Given the description of an element on the screen output the (x, y) to click on. 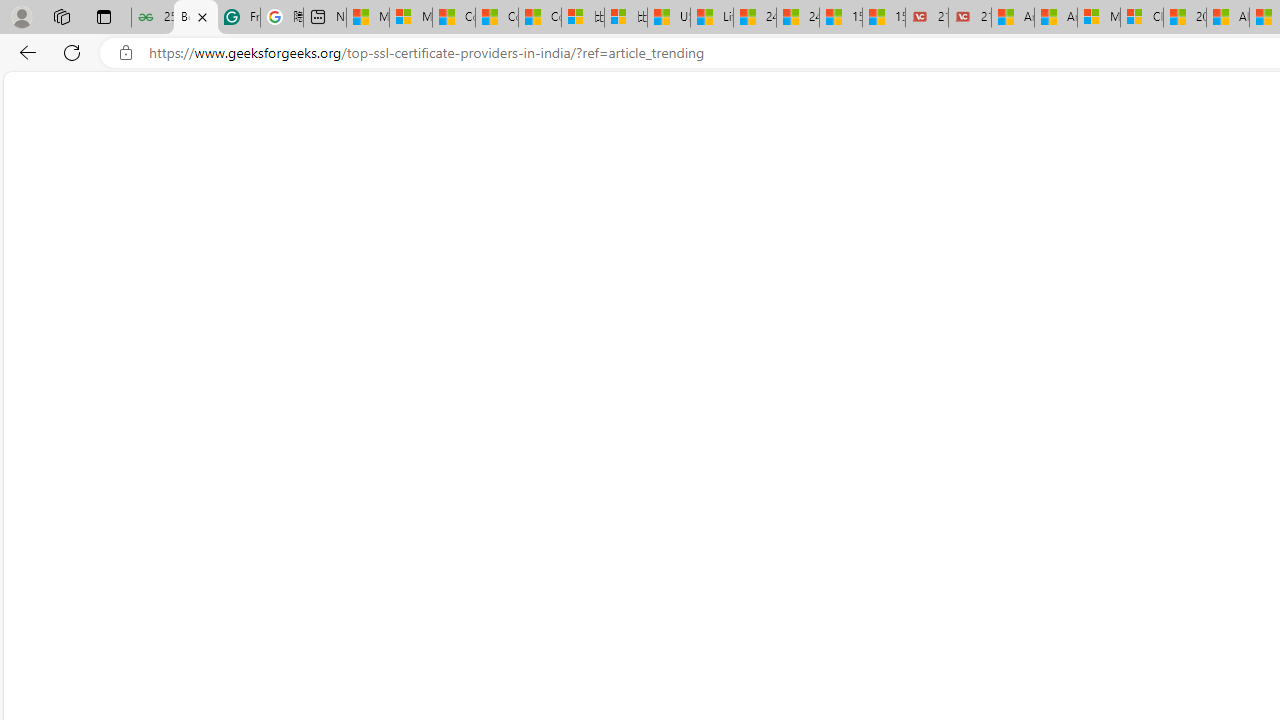
AutomationID: bg4 (275, 561)
AutomationID: bg5 (571, 559)
Class: ns-0w9yu-e-5 (571, 233)
15 Ways Modern Life Contradicts the Teachings of Jesus (883, 17)
ChatGPT Blogs (662, 138)
Tech News (759, 142)
AutomationID: bg3 (274, 561)
AutomationID: brandFlyLogo (572, 457)
AutomationID: gradient2 (274, 561)
Website & Apps (387, 142)
AutomationID: brandLogo (571, 566)
Tutorials (67, 96)
